Given the description of an element on the screen output the (x, y) to click on. 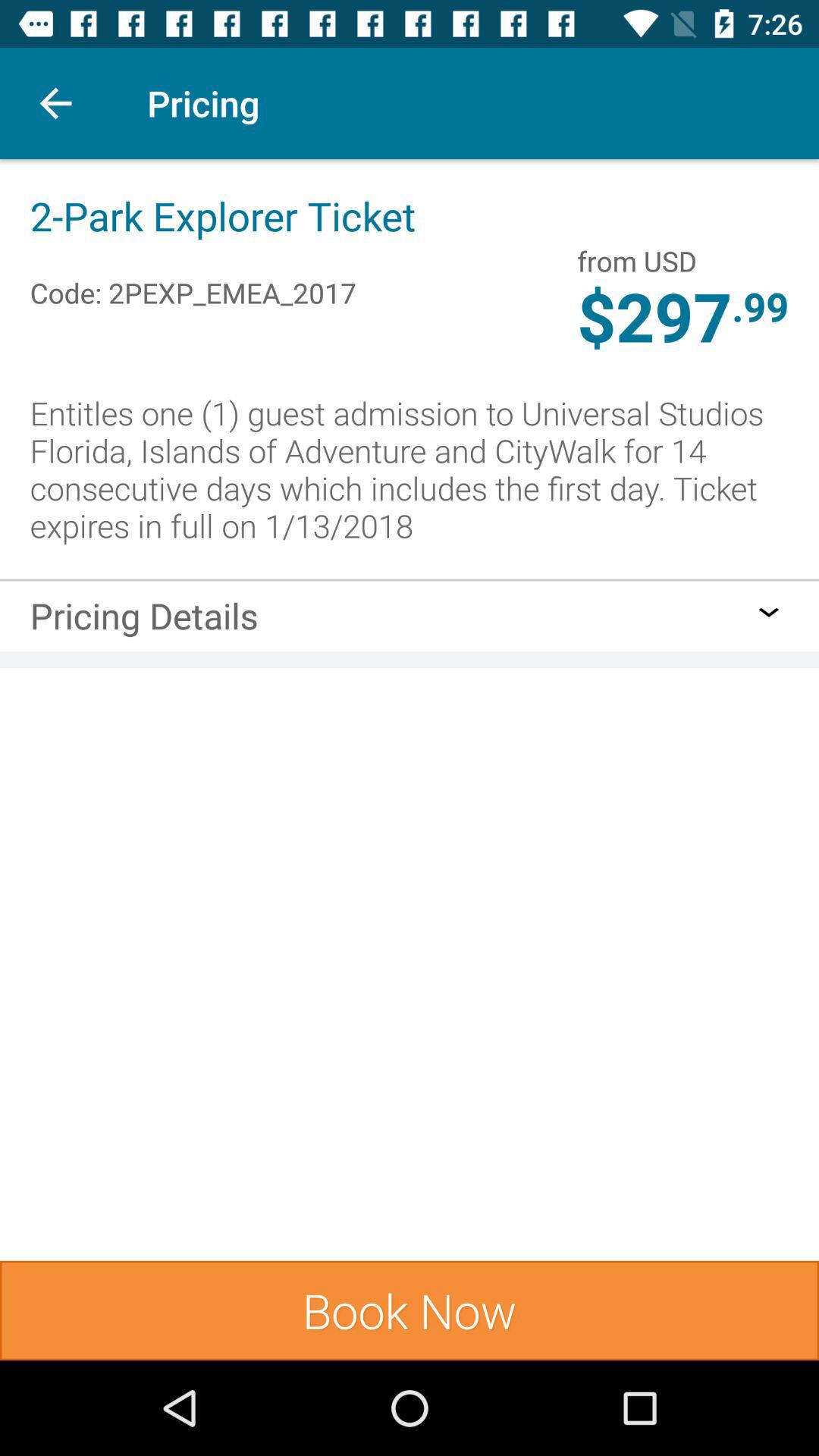
launch item above the book now icon (144, 620)
